Given the description of an element on the screen output the (x, y) to click on. 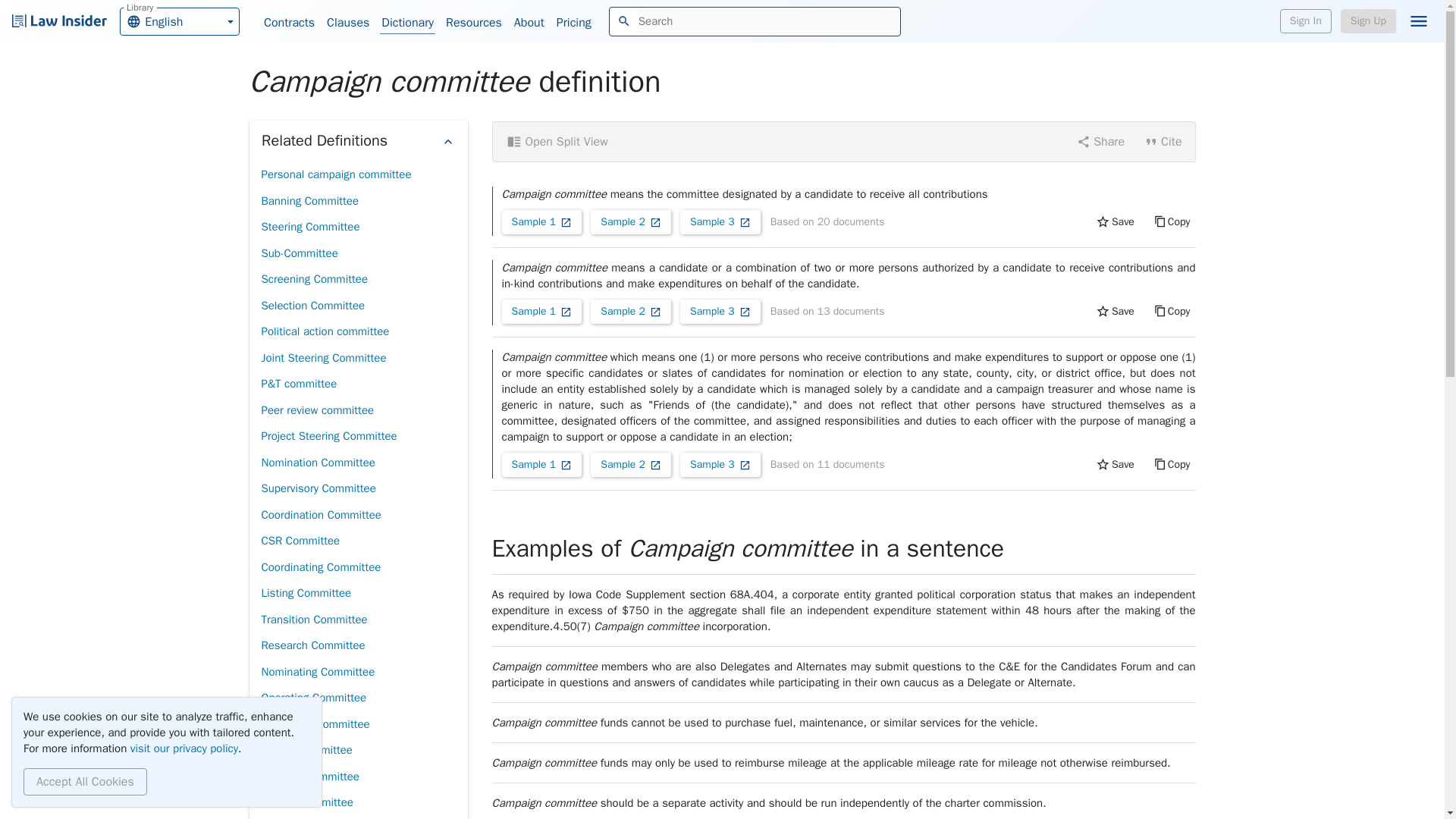
Joint Steering Committee (322, 357)
CSR Committee (299, 540)
Selection Committee (179, 20)
Sign In (312, 305)
Resources (1305, 21)
visit our privacy policy (473, 23)
About (184, 748)
Listing Committee (529, 23)
Pricing (305, 592)
Contracts (573, 23)
Project Steering Committee (288, 23)
Dictionary (328, 436)
Nominating Committee (407, 23)
Steering Committee (317, 671)
